Given the description of an element on the screen output the (x, y) to click on. 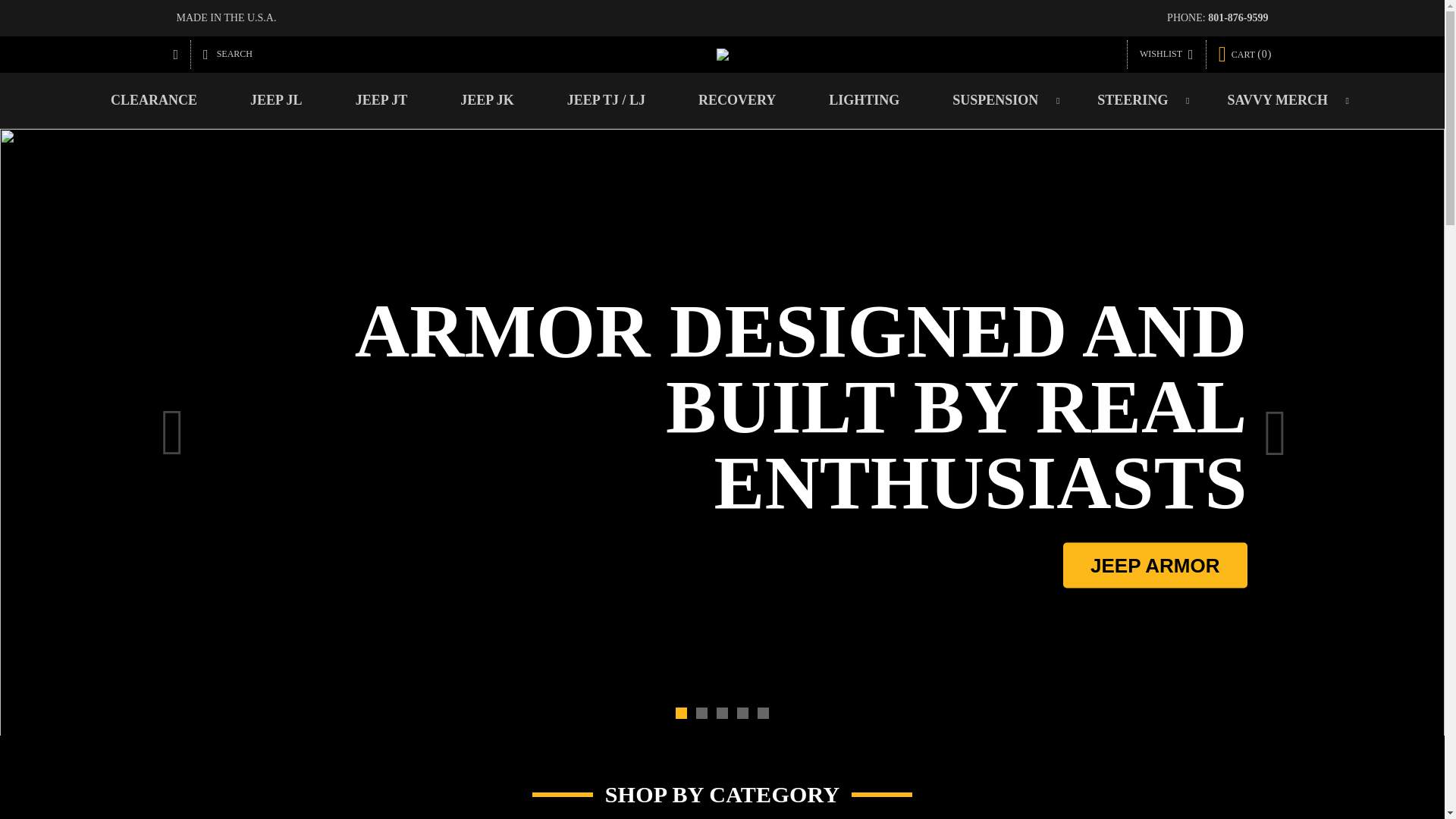
LIGHTING (864, 99)
WISHLIST (1165, 54)
JEEP JT (381, 99)
STEERING (1134, 99)
SAVVY MERCH (1279, 99)
Savvy Offroad (722, 54)
SEARCH (227, 54)
CLEARANCE (154, 99)
SUSPENSION (998, 99)
RECOVERY (736, 99)
JEEP JK (486, 99)
CART 0 (1245, 54)
801-876-9599 (1238, 17)
JEEP JL (276, 99)
